Given the description of an element on the screen output the (x, y) to click on. 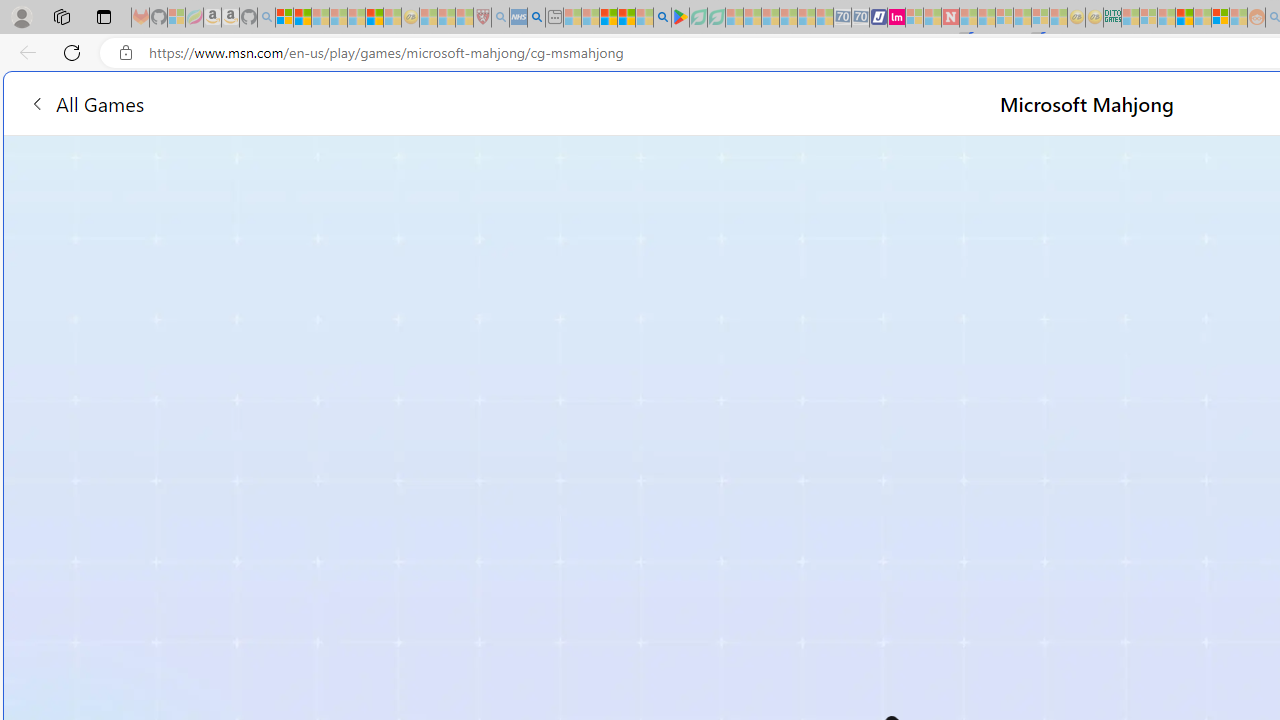
All Games (380, 102)
Bluey: Let's Play! - Apps on Google Play (680, 17)
Kinda Frugal - MSN - Sleeping (1202, 17)
